Given the description of an element on the screen output the (x, y) to click on. 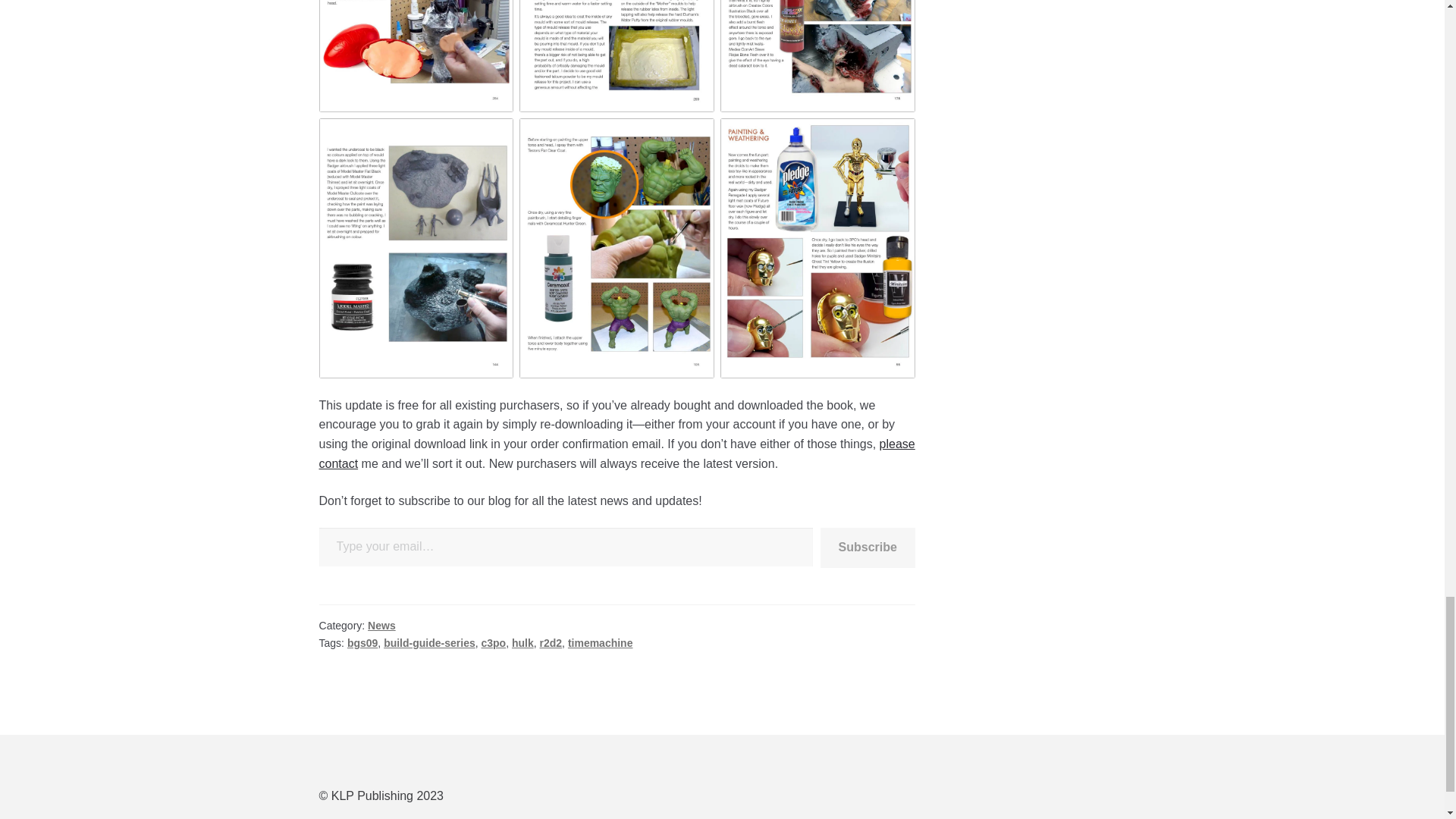
Please fill in this field. (565, 546)
